Given the description of an element on the screen output the (x, y) to click on. 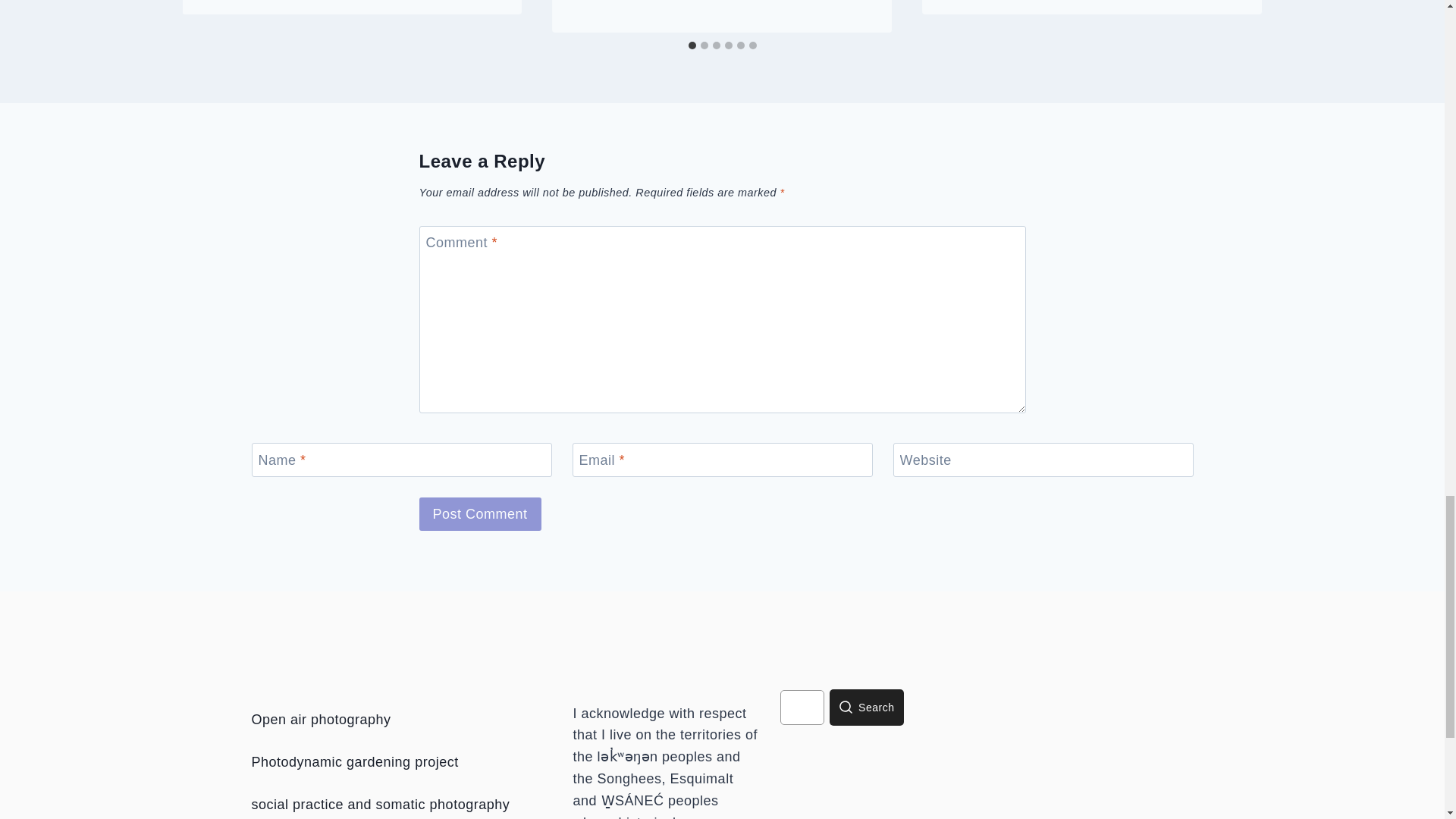
Post Comment (479, 513)
